Given the description of an element on the screen output the (x, y) to click on. 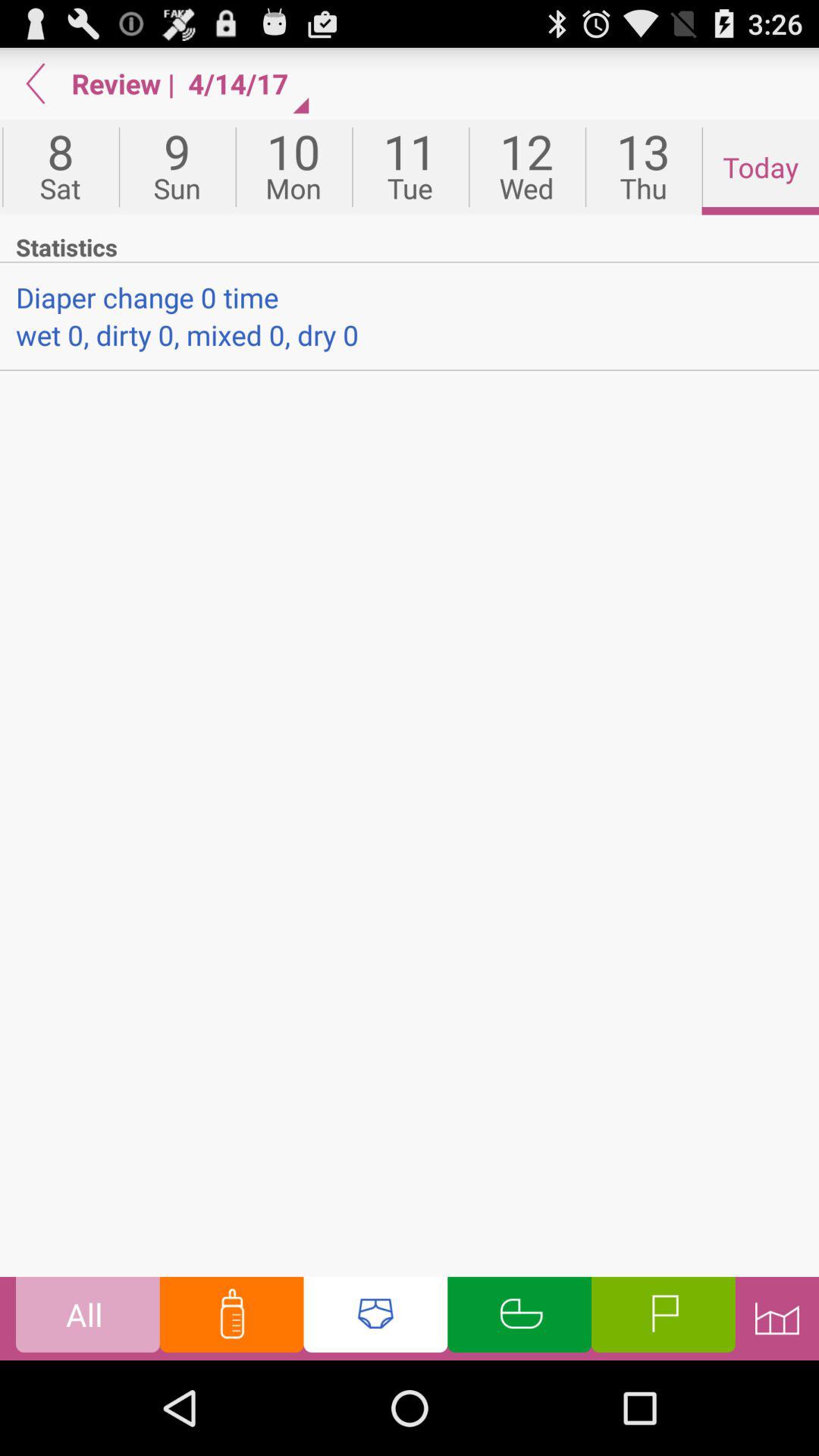
chart option (777, 1318)
